Given the description of an element on the screen output the (x, y) to click on. 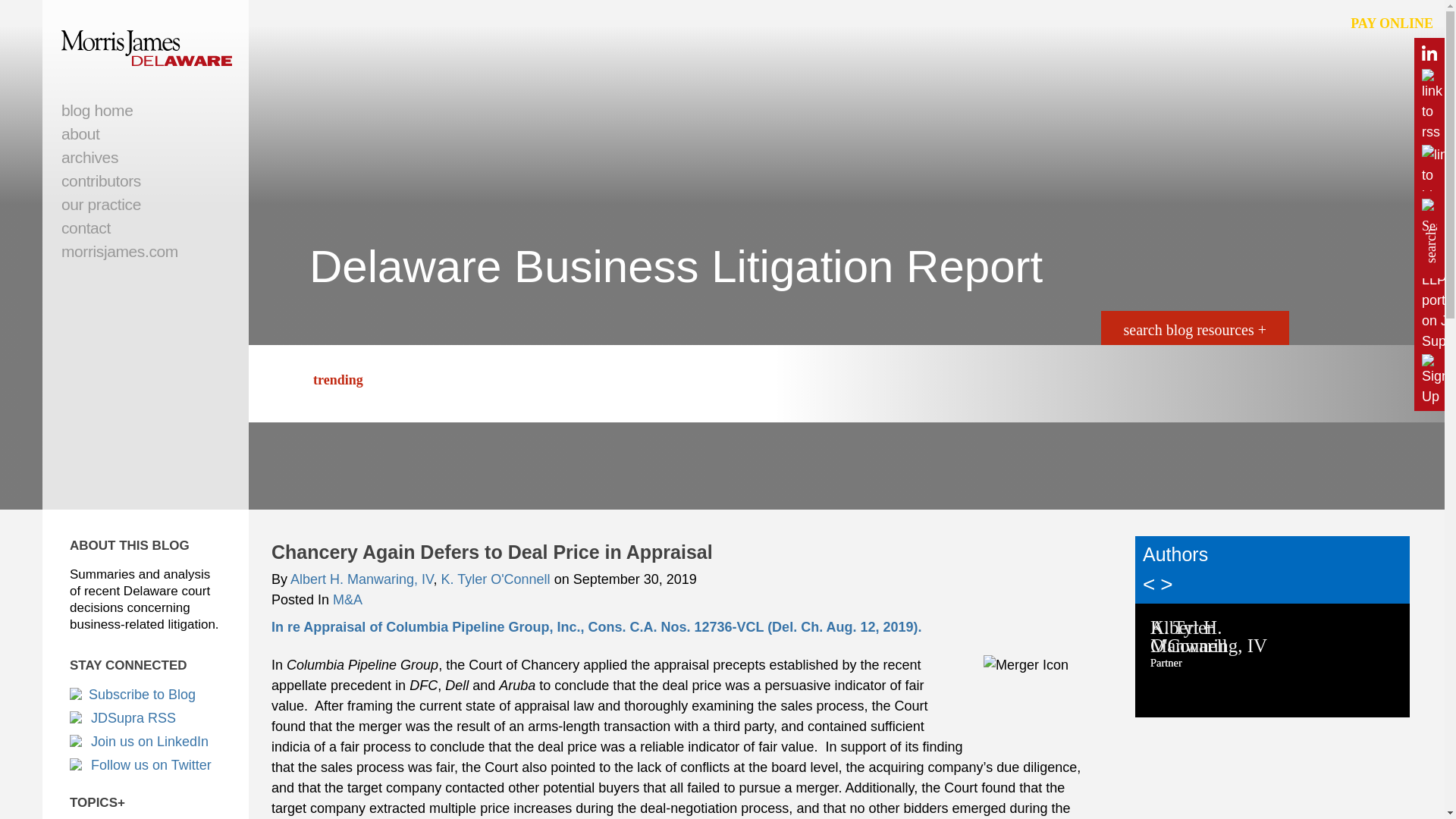
Twitter (145, 765)
Subscribe to Blog (145, 694)
Join us on LinkedIn (145, 741)
PAY ONLINE (1391, 23)
Columbia Pipeline Opinion (595, 626)
LinkedIn (145, 741)
JDSupra RSS (145, 718)
LinkedIn (1429, 55)
Merger Icon (1040, 696)
Subscribe to Blog (145, 694)
